Given the description of an element on the screen output the (x, y) to click on. 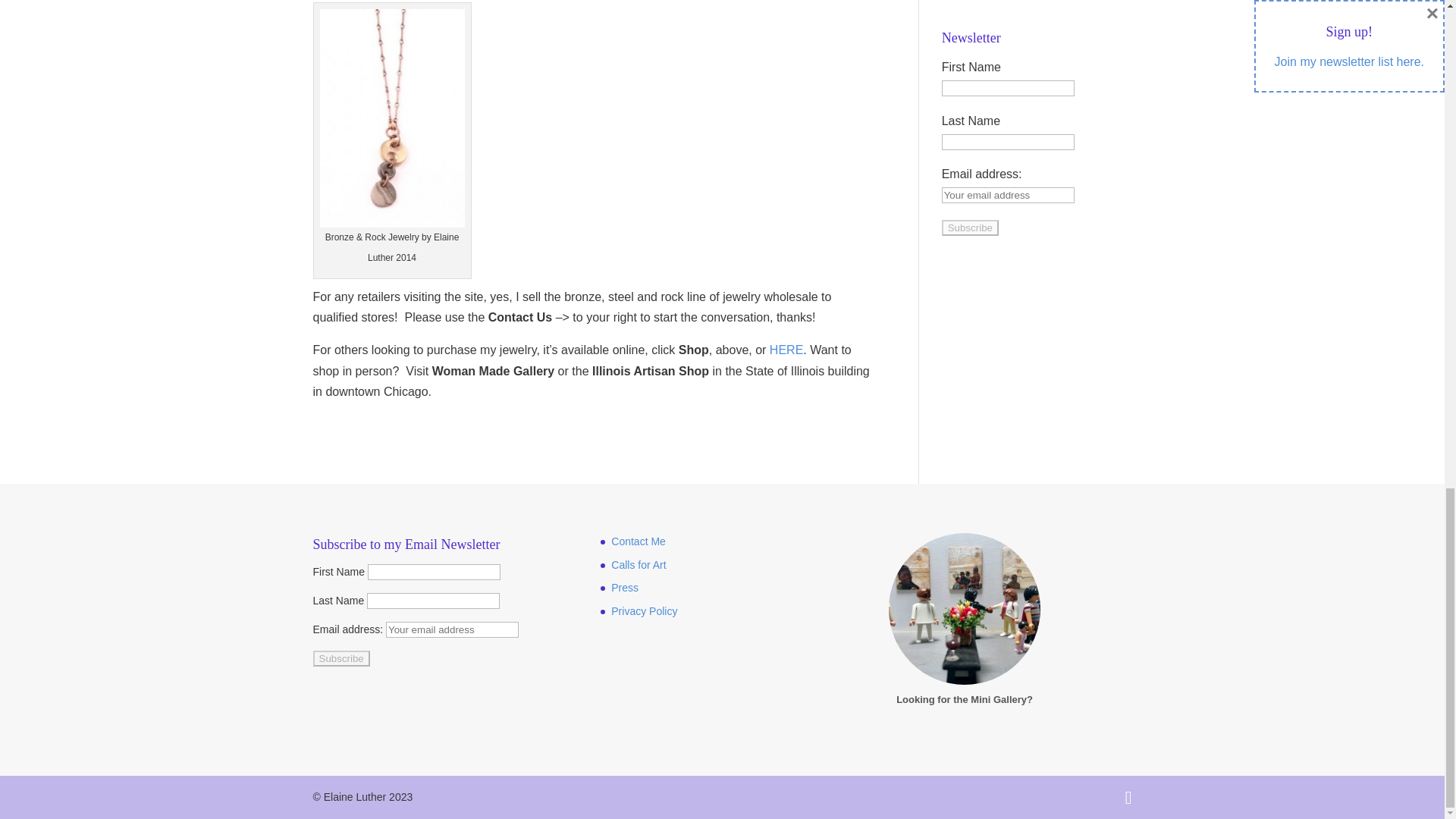
Subscribe (341, 658)
Subscribe (970, 227)
